Given the description of an element on the screen output the (x, y) to click on. 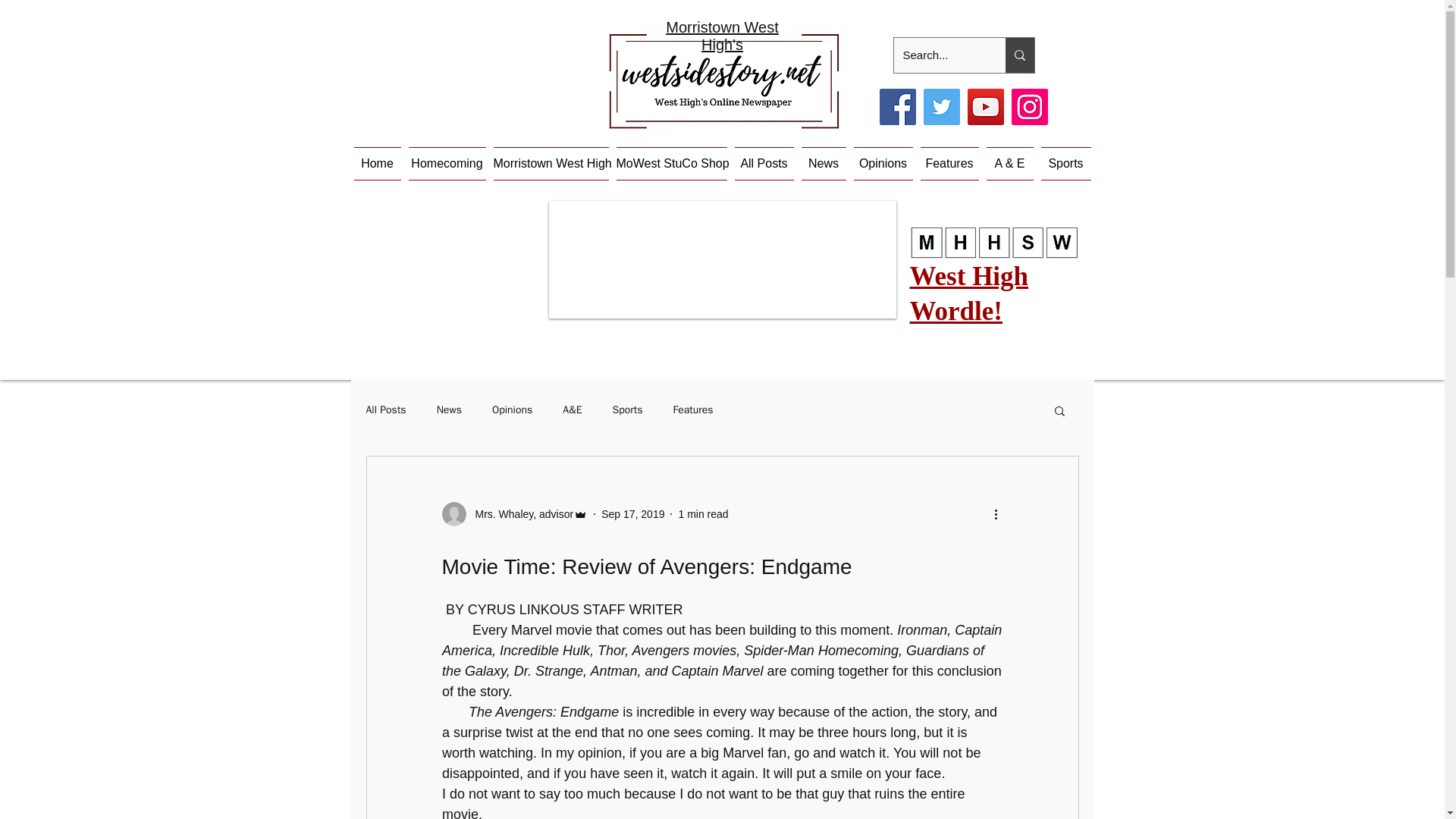
Morristown West High's (721, 35)
MoWest StuCo Shop (671, 163)
Sep 17, 2019 (632, 513)
1 min read (703, 513)
Sports (1063, 163)
All Posts (763, 163)
Features (692, 409)
News (823, 163)
Opinions (512, 409)
Homecoming (446, 163)
Opinions (881, 163)
Mrs. Whaley, advisor (519, 514)
Sports (627, 409)
Home (378, 163)
Morristown West High (550, 163)
